Given the description of an element on the screen output the (x, y) to click on. 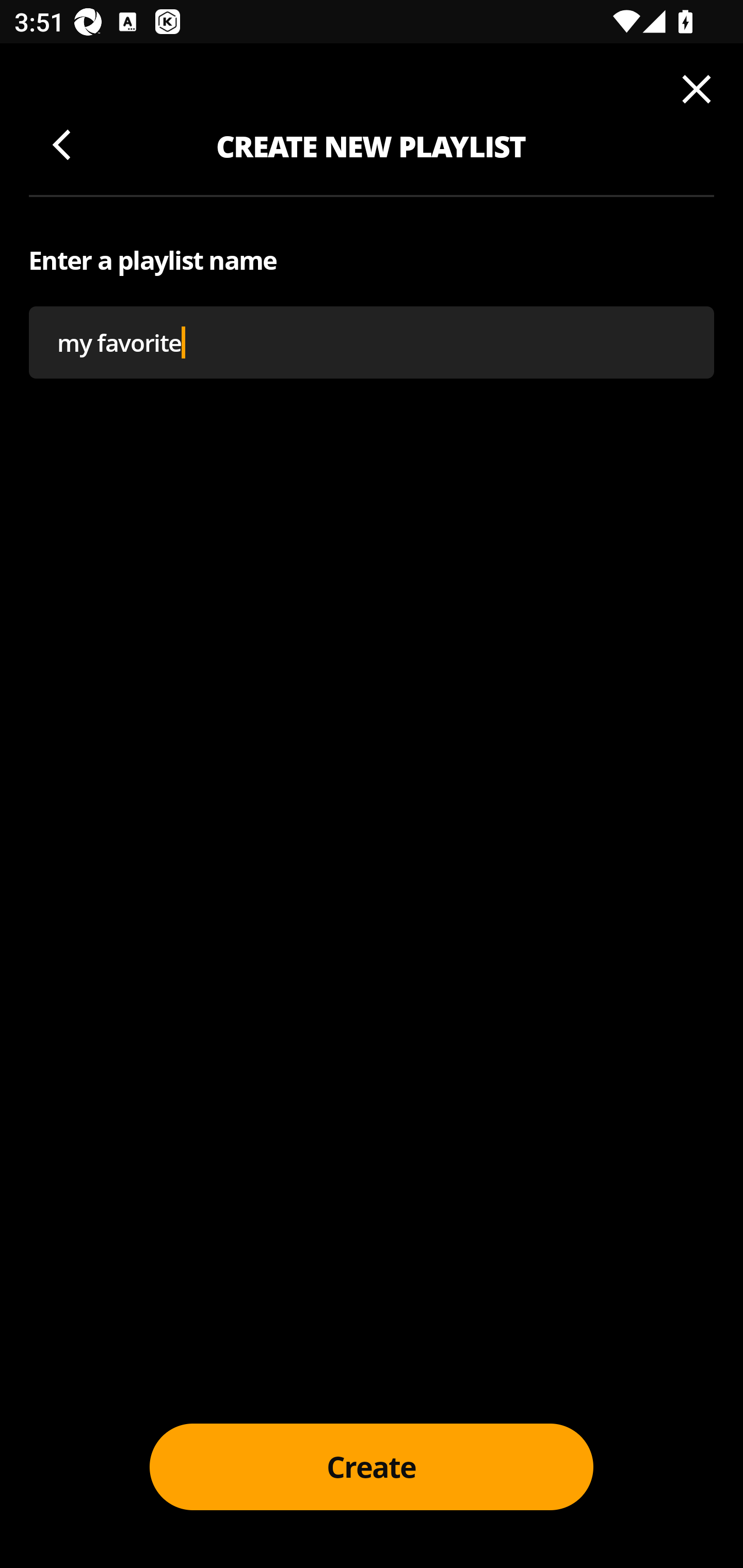
Queue (693, 93)
All Country Afrosounds Pop Caribbean (371, 275)
my favorite (371, 341)
Create (371, 1466)
